Given the description of an element on the screen output the (x, y) to click on. 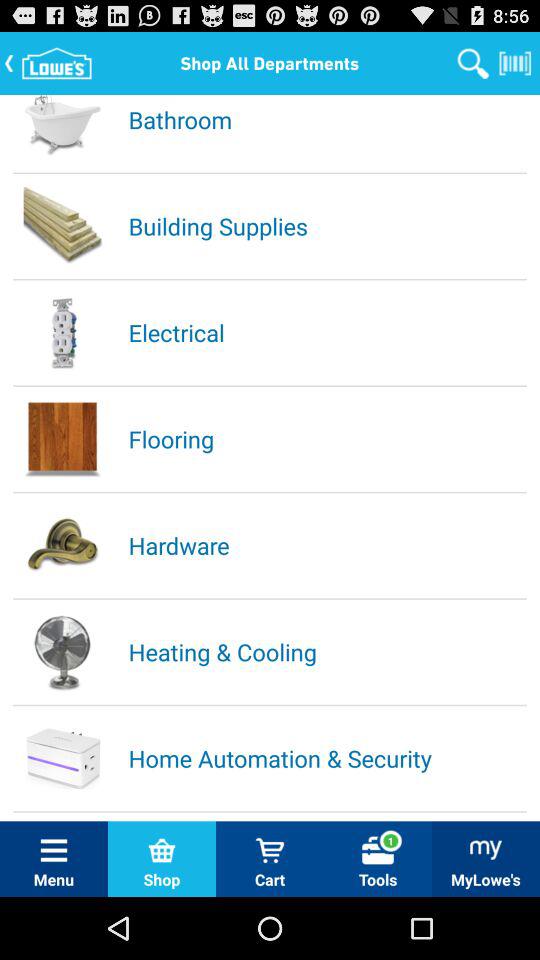
open icon above building supplies item (326, 119)
